Given the description of an element on the screen output the (x, y) to click on. 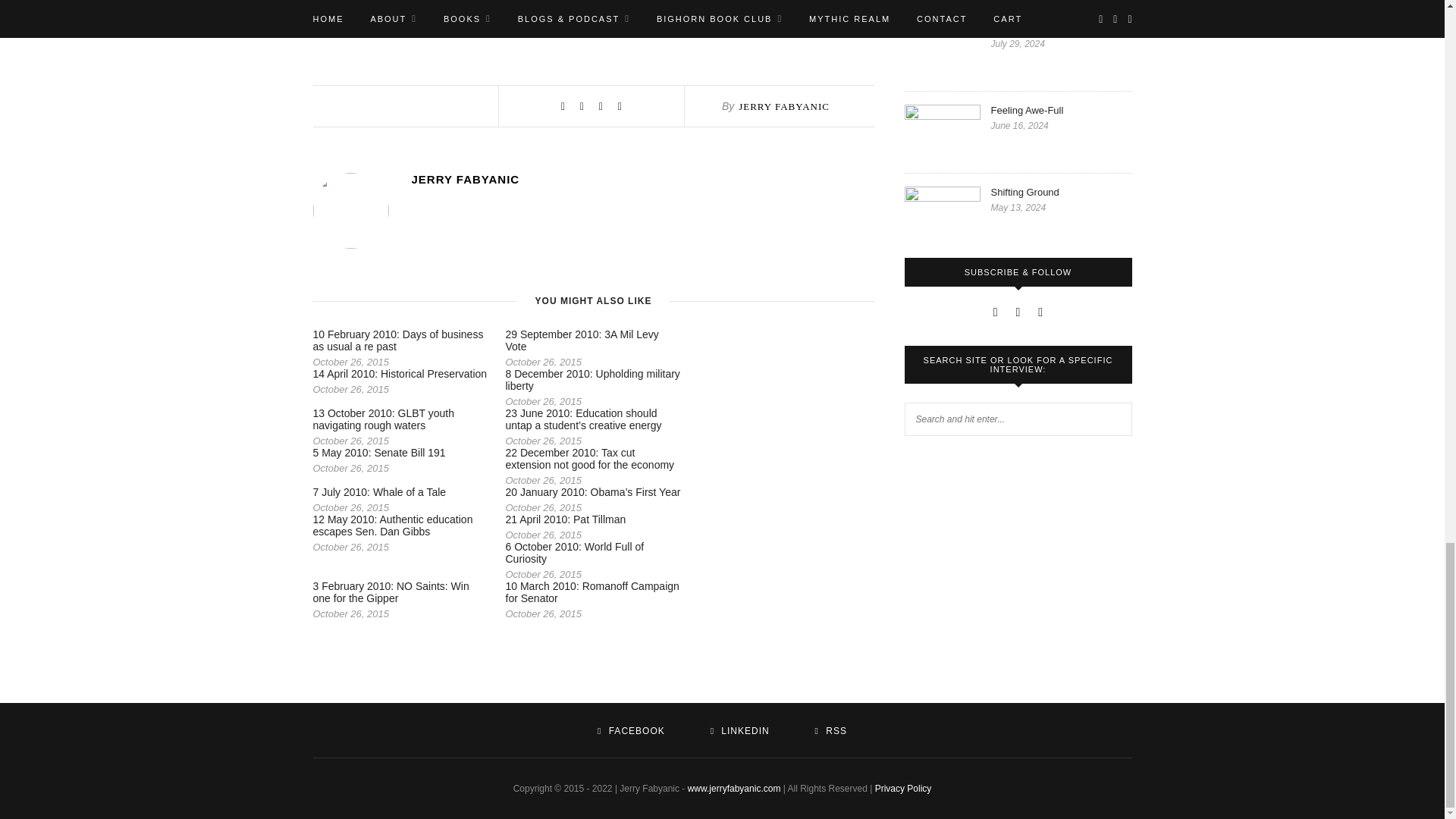
Posts by Jerry Fabyanic (783, 106)
Posts by Jerry Fabyanic (641, 178)
